Given the description of an element on the screen output the (x, y) to click on. 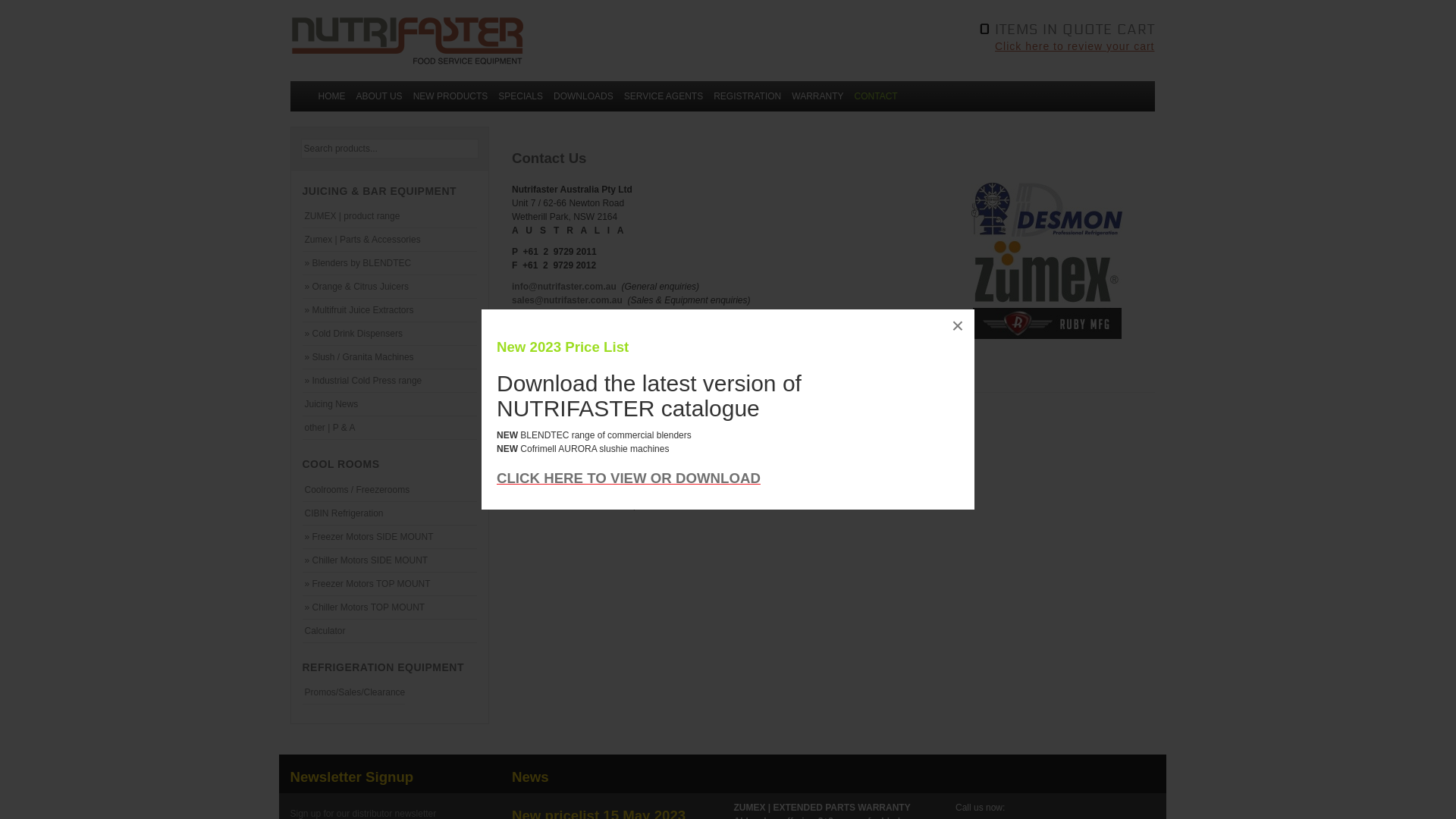
Juicing News Element type: text (388, 403)
accounts@nutrifaster.com.au Element type: text (575, 340)
Click here to review your cart Element type: text (944, 46)
ZUMEX | product range Element type: text (388, 215)
Promos/Sales/Clearance Element type: text (352, 691)
service@nutrifaster.com.au Element type: text (570, 313)
SPECIALS Element type: text (520, 96)
CIBIN Refrigeration Element type: text (388, 513)
DOWNLOADS Element type: text (583, 96)
Coolrooms / Freezerooms Element type: text (388, 489)
Calculator Element type: text (388, 630)
REFRIGERATION EQUIPMENT Element type: text (382, 667)
sales@nutrifaster.com.au Element type: text (605, 306)
ABOUT US Element type: text (378, 96)
REGISTRATION Element type: text (747, 96)
other | P & A Element type: text (388, 427)
JUICING & BAR EQUIPMENT Element type: text (378, 191)
COOL ROOMS Element type: text (340, 464)
0 ITEMS IN QUOTE CART Element type: text (944, 27)
CLICK HERE TO VIEW OR DOWNLOAD Element type: text (628, 478)
HOME Element type: text (331, 96)
info@nutrifaster.com.au Element type: text (563, 286)
SERVICE AGENTS Element type: text (663, 96)
Zumex | Parts & Accessories Element type: text (388, 239)
parts@nutrifaster.com.au Element type: text (566, 327)
NEW PRODUCTS Element type: text (450, 96)
CONTACT Element type: text (876, 96)
WARRANTY Element type: text (817, 96)
